Given the description of an element on the screen output the (x, y) to click on. 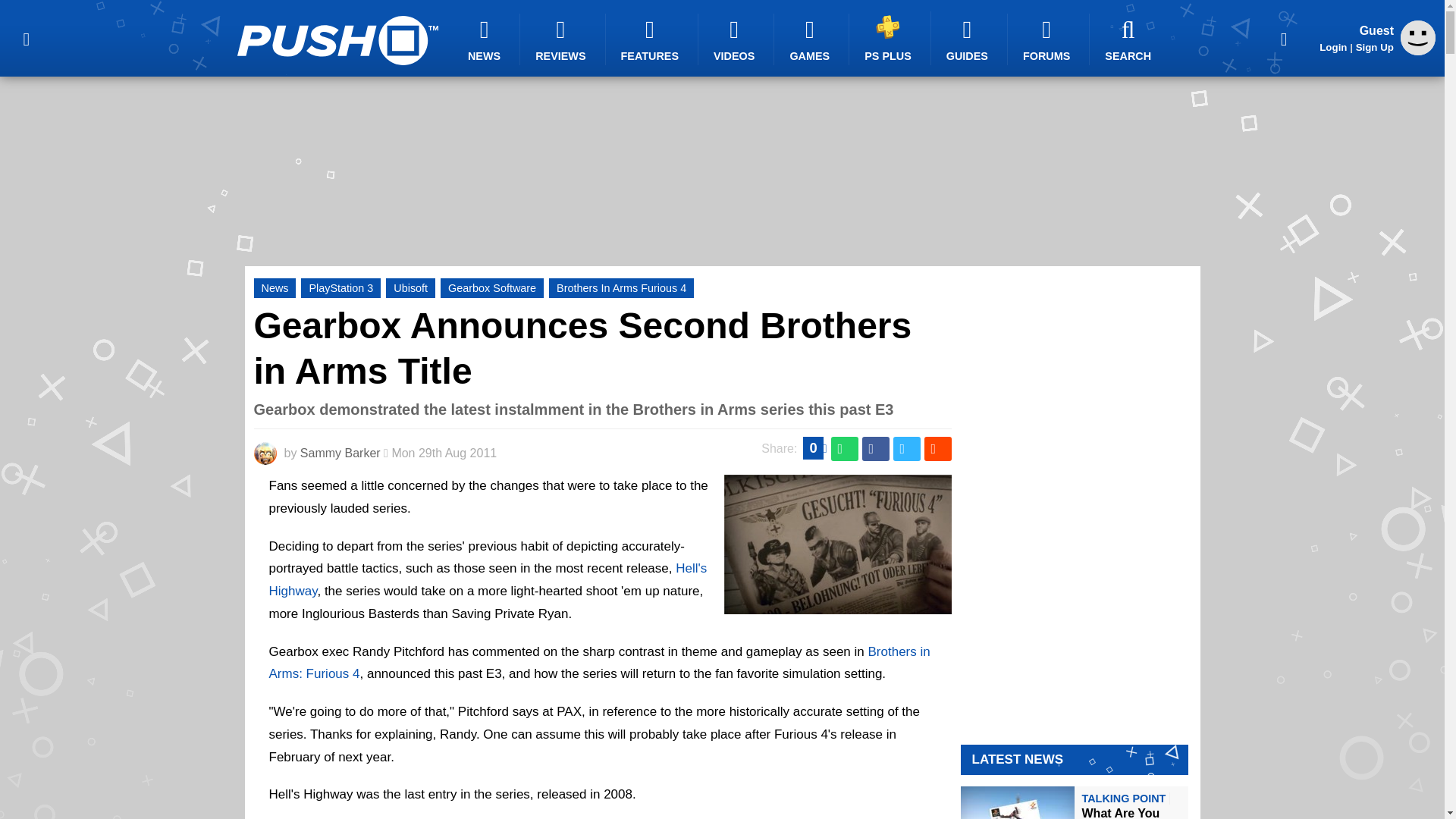
Push Square (336, 40)
Ubisoft (410, 288)
Gearbox Software (492, 288)
FEATURES (651, 39)
Menu (26, 37)
Share this on Twitter (906, 448)
REVIEWS (562, 39)
News (274, 288)
GAMES (811, 39)
Share this on Facebook (874, 448)
Sign Up (1374, 47)
Guest (1417, 37)
GUIDES (969, 39)
PS PLUS (889, 38)
SEARCH (1129, 39)
